Given the description of an element on the screen output the (x, y) to click on. 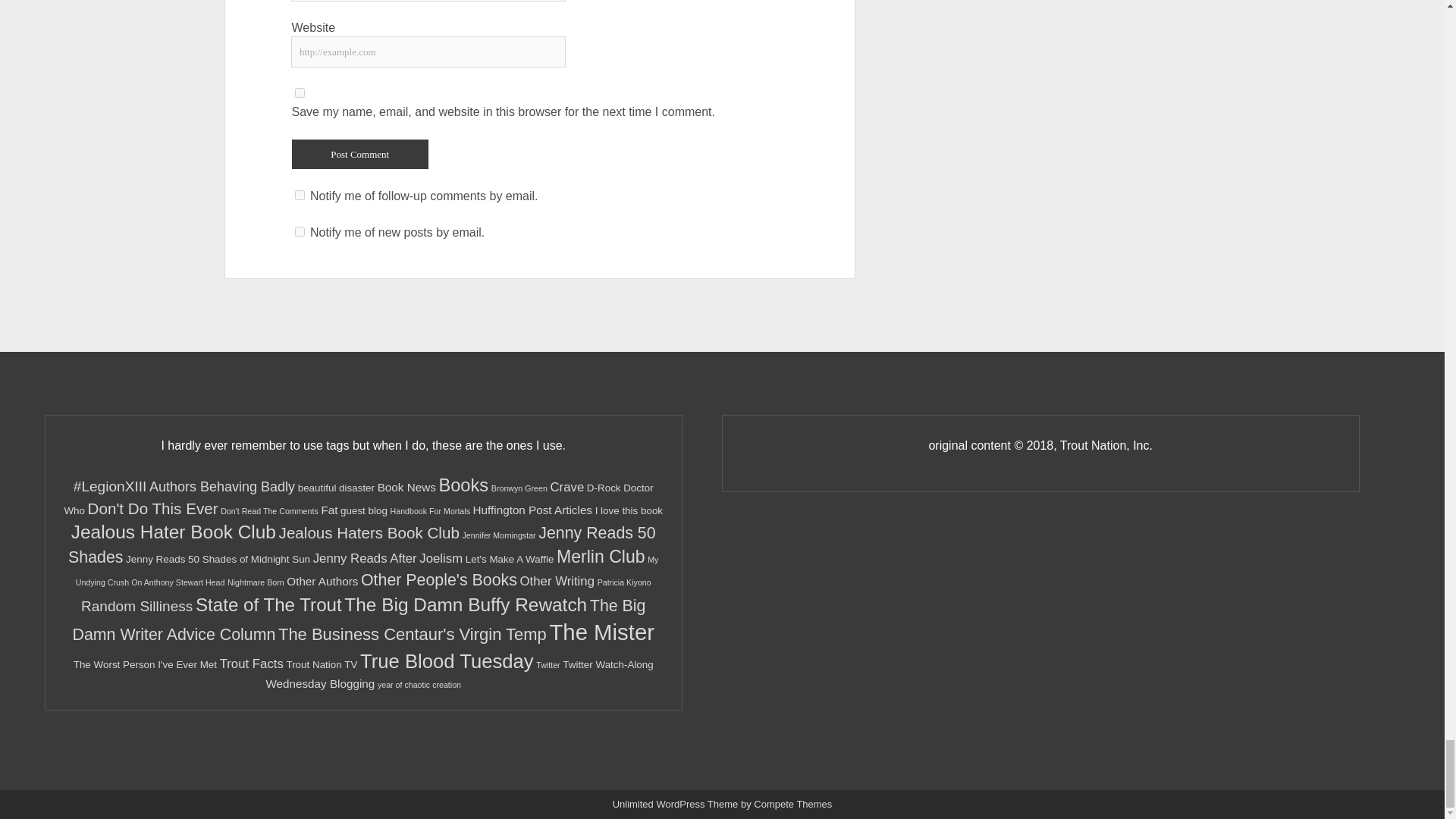
subscribe (299, 231)
yes (299, 92)
subscribe (299, 194)
Post Comment (360, 153)
